Given the description of an element on the screen output the (x, y) to click on. 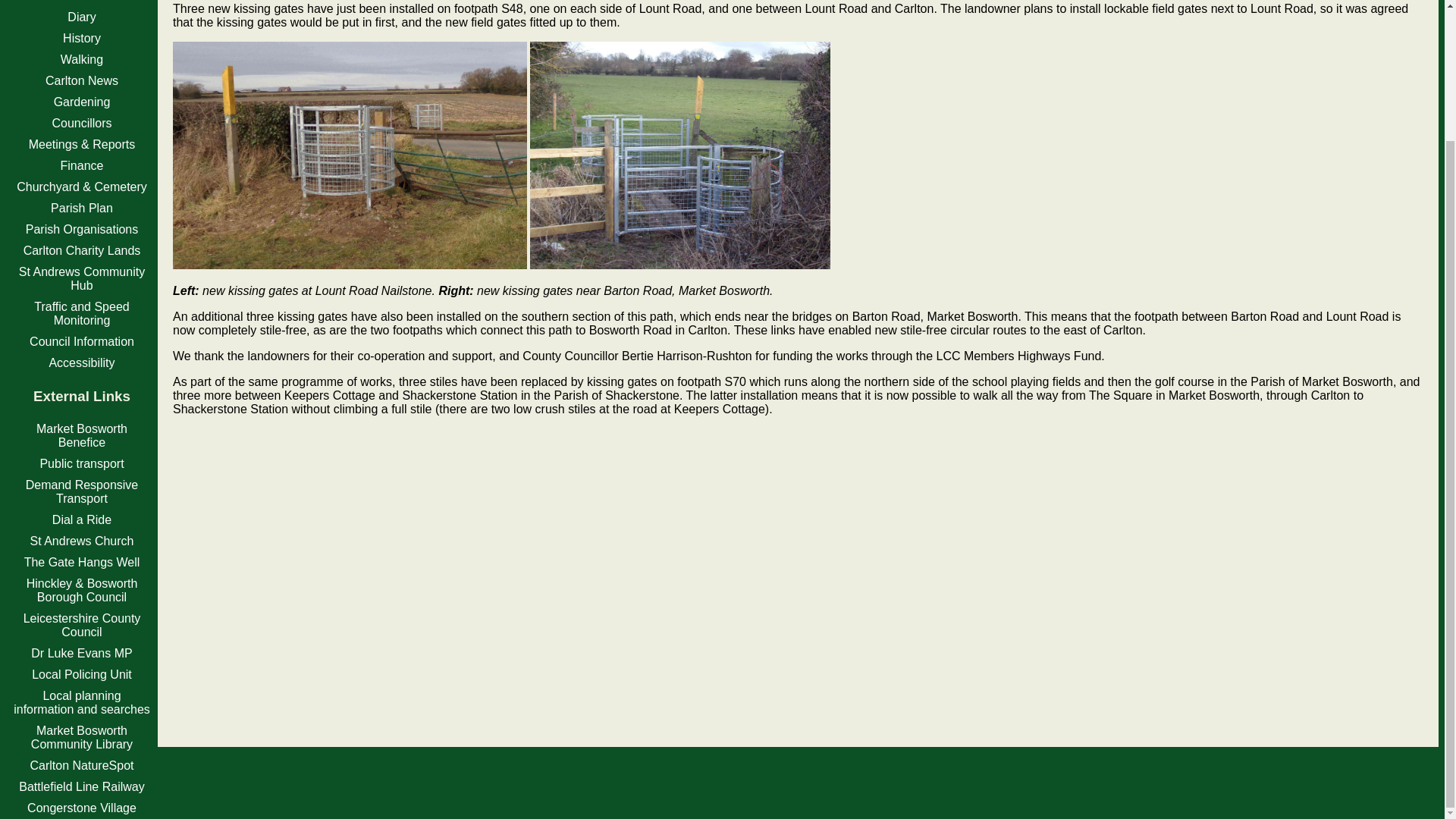
Parish Plan (81, 207)
Market Bosworth Benefice (82, 435)
Accessibility (81, 362)
Gardening (81, 101)
Market Bosworth Community Library (81, 737)
Home (82, 1)
Diary (81, 16)
Leicestershire County Council (82, 624)
Walking (82, 59)
Congerstone Village (81, 807)
The Gate Hangs Well (81, 562)
St Andrews Community Hub (81, 278)
Council Information (81, 341)
Parish Organisations (82, 228)
Public transport (81, 463)
